Given the description of an element on the screen output the (x, y) to click on. 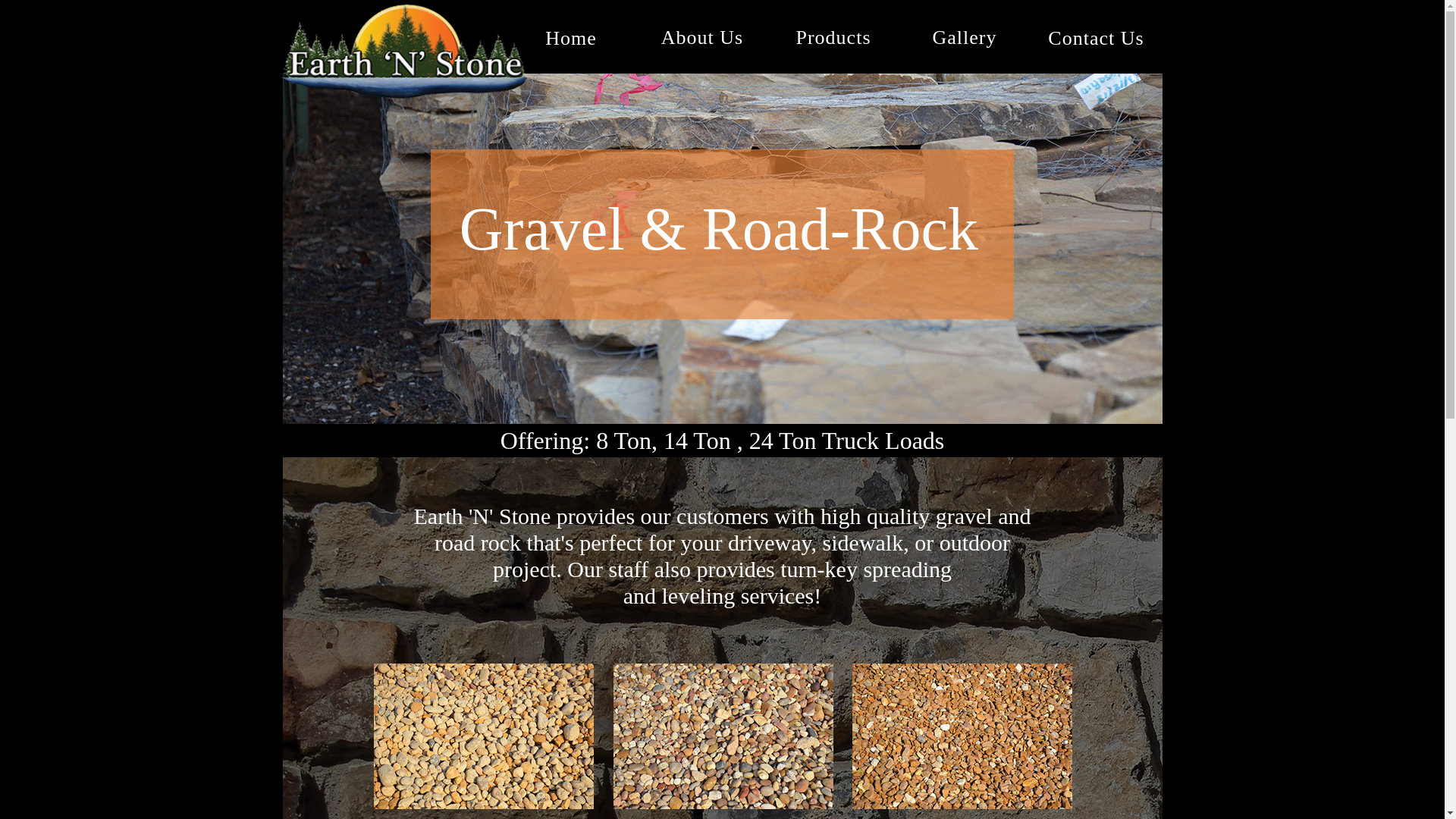
Contact Us (1096, 37)
Gallery (963, 37)
Products (834, 37)
About Us (701, 37)
Home (570, 37)
